Given the description of an element on the screen output the (x, y) to click on. 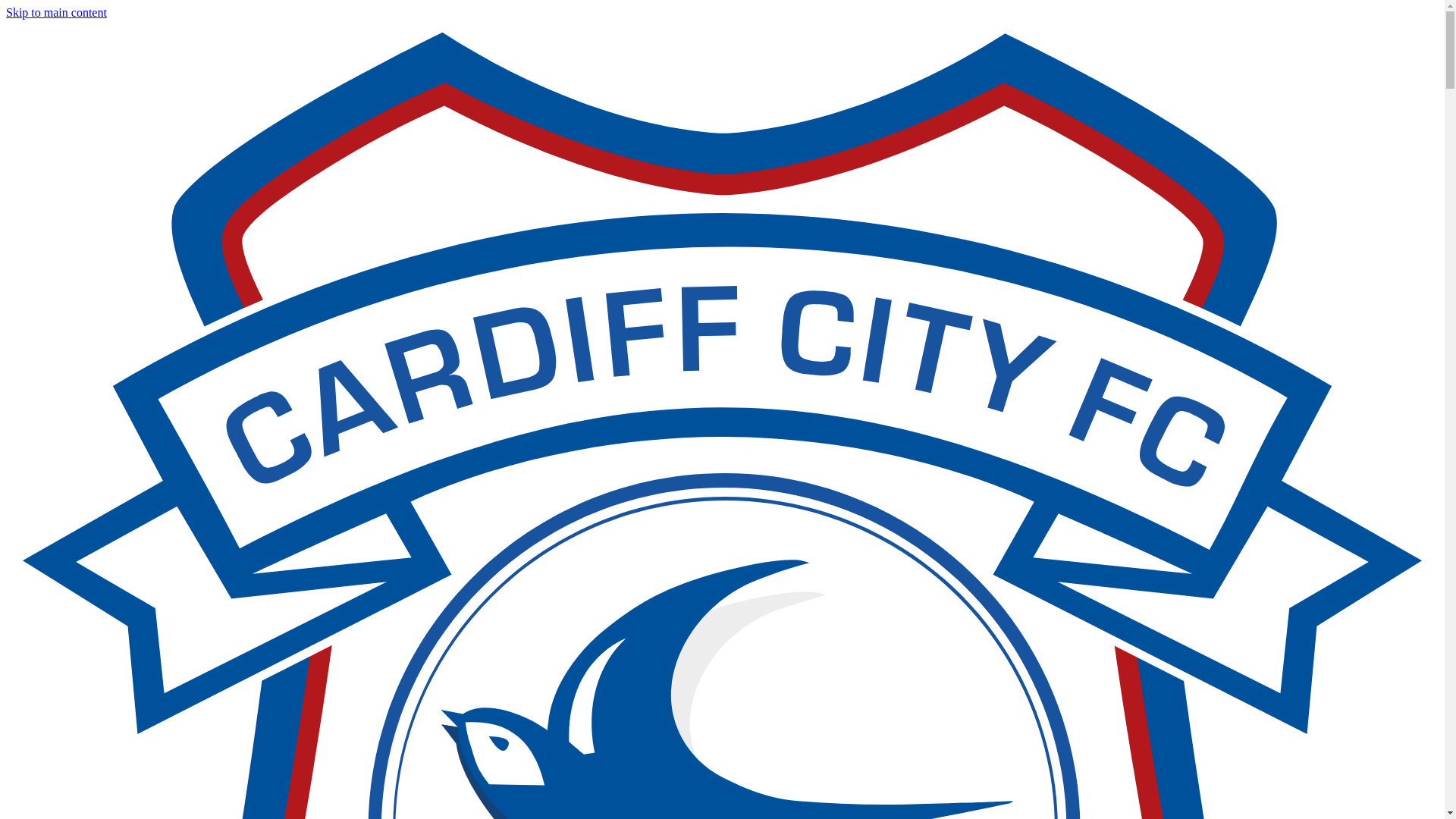
Skip to main content (55, 11)
